Given the description of an element on the screen output the (x, y) to click on. 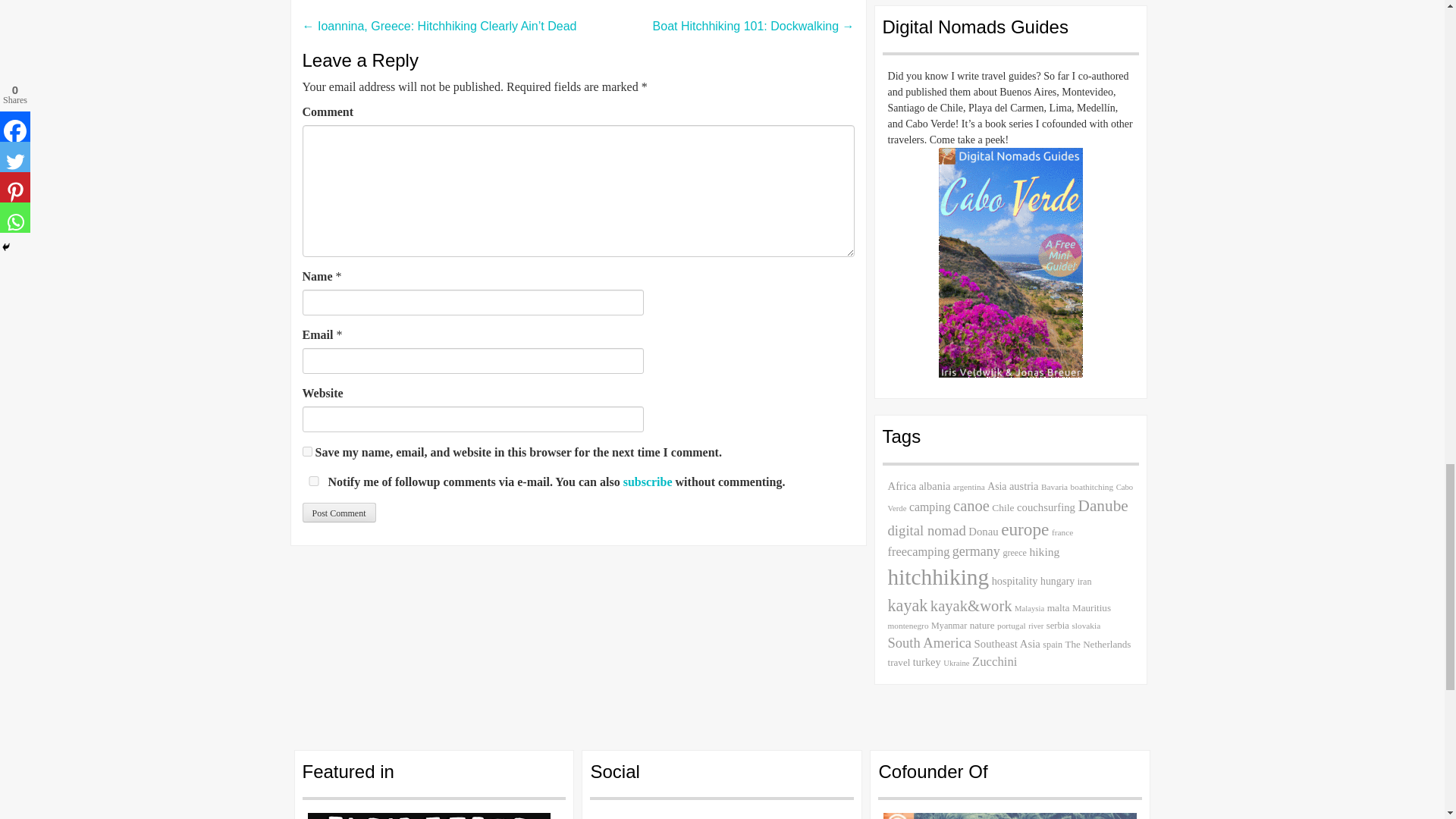
yes (312, 480)
Post Comment (338, 512)
yes (306, 451)
